Given the description of an element on the screen output the (x, y) to click on. 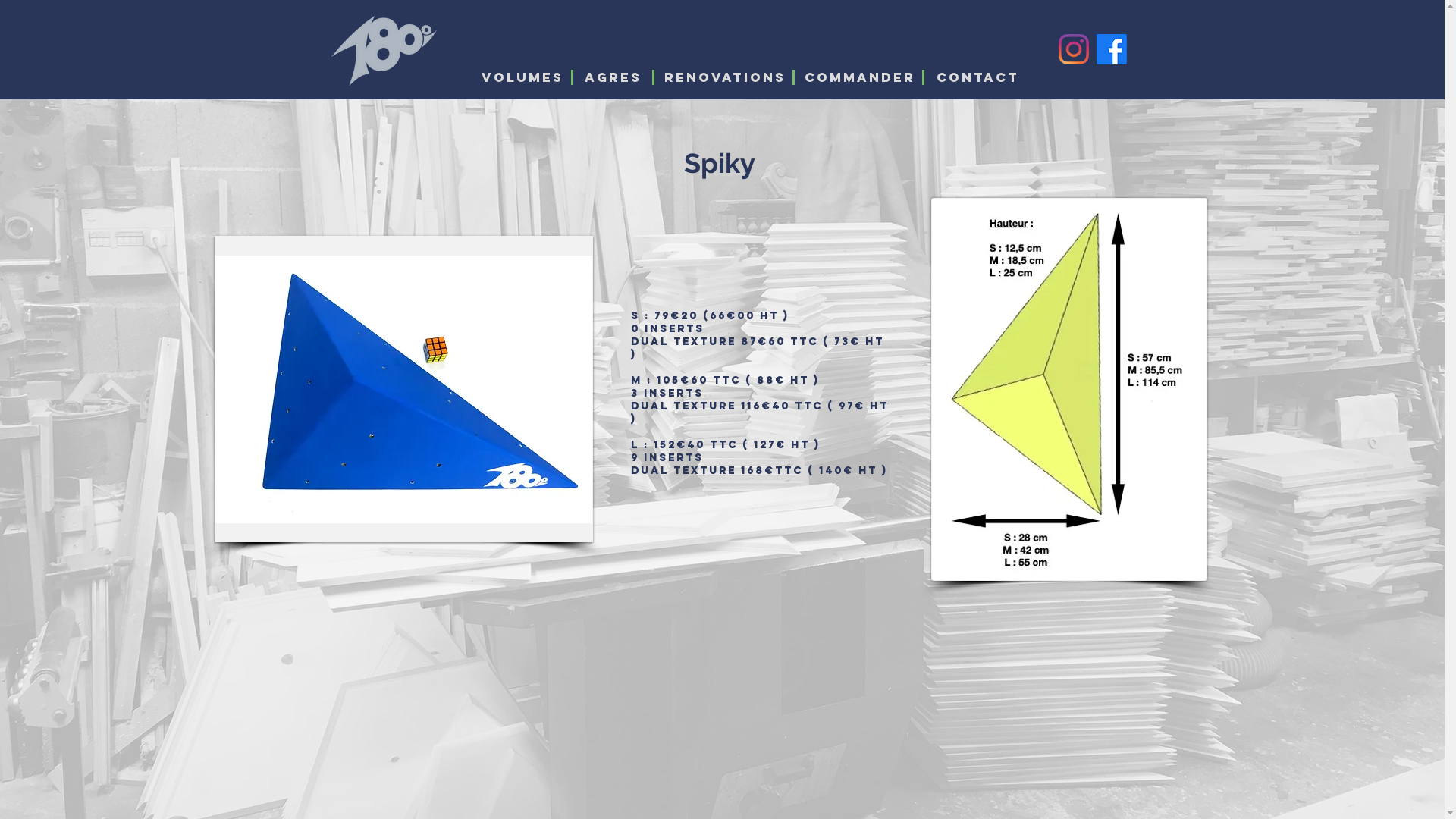
Eye Element type: hover (384, 50)
agres Element type: text (612, 77)
renovations Element type: text (724, 77)
commander Element type: text (858, 77)
contact Element type: text (976, 77)
VOLUMES Element type: text (521, 77)
